Given the description of an element on the screen output the (x, y) to click on. 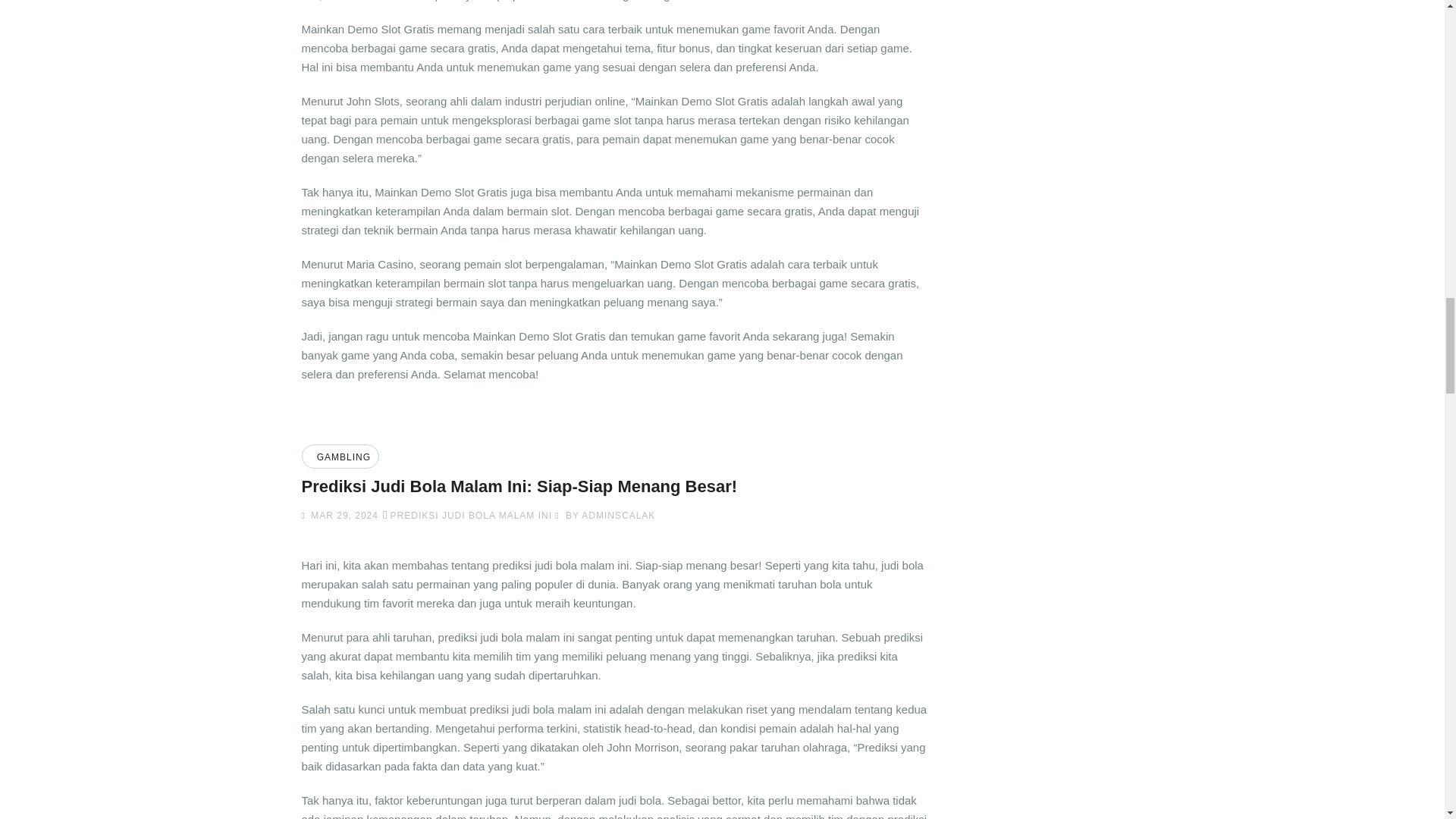
Prediksi Judi Bola Malam Ini: Siap-Siap Menang Besar! (519, 486)
GAMBLING (342, 457)
PREDIKSI JUDI BOLA MALAM INI (470, 515)
BY ADMINSCALAK (604, 515)
MAR 29, 2024 (342, 515)
